Given the description of an element on the screen output the (x, y) to click on. 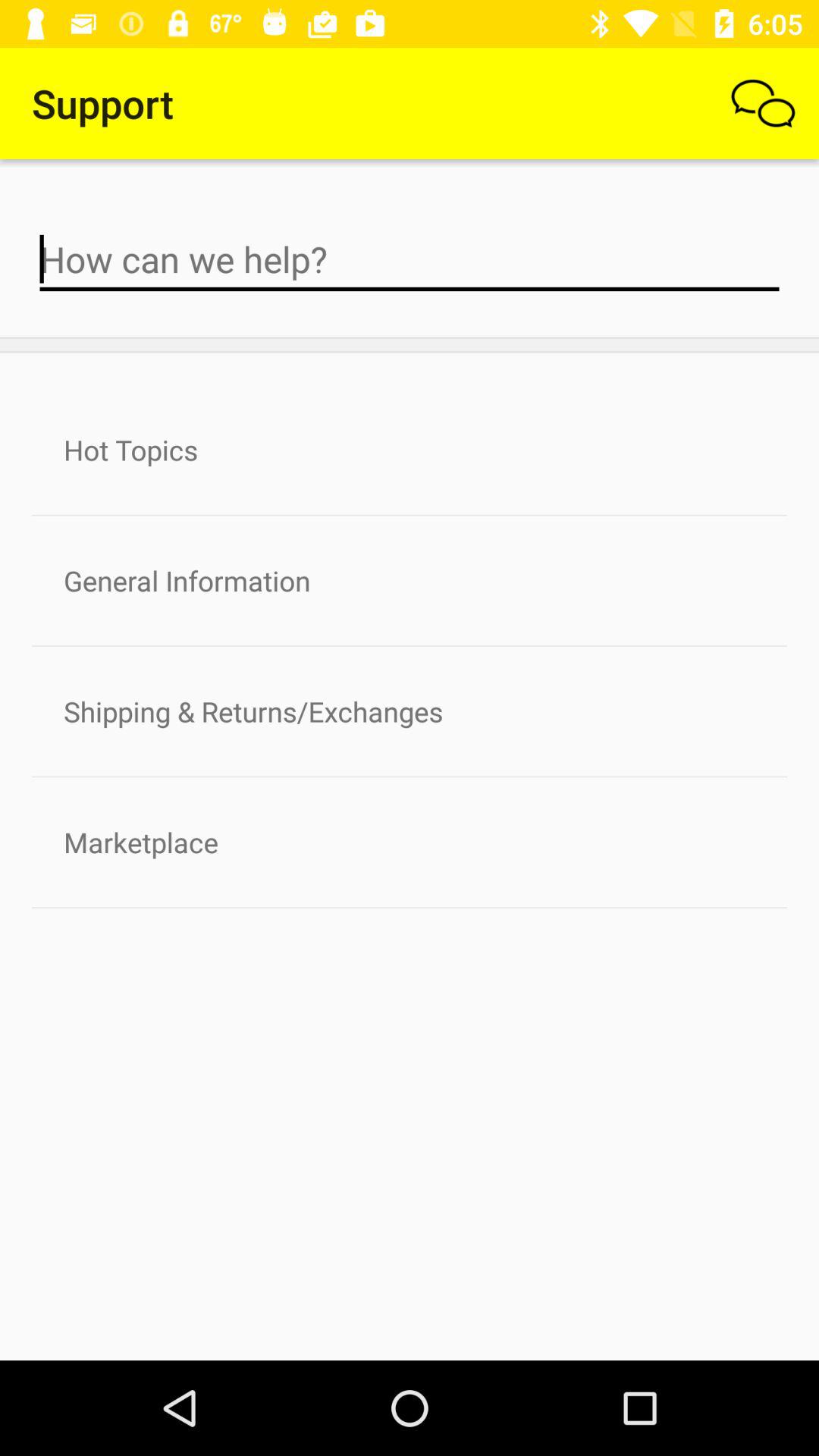
click hot topics (409, 449)
